Given the description of an element on the screen output the (x, y) to click on. 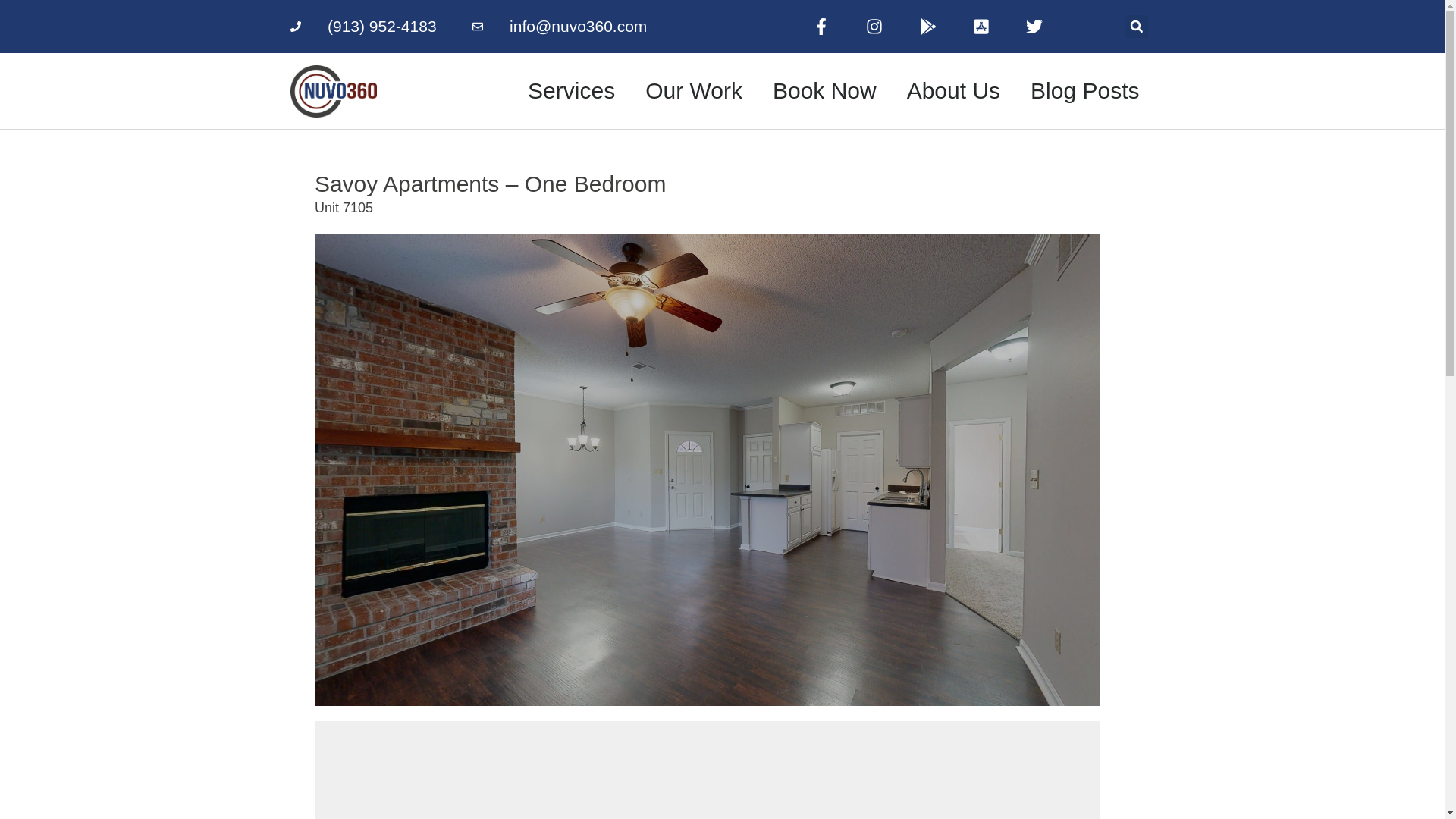
Book Now (824, 90)
Services (571, 90)
Our Work (693, 90)
Blog Posts (1084, 90)
About Us (952, 90)
